Given the description of an element on the screen output the (x, y) to click on. 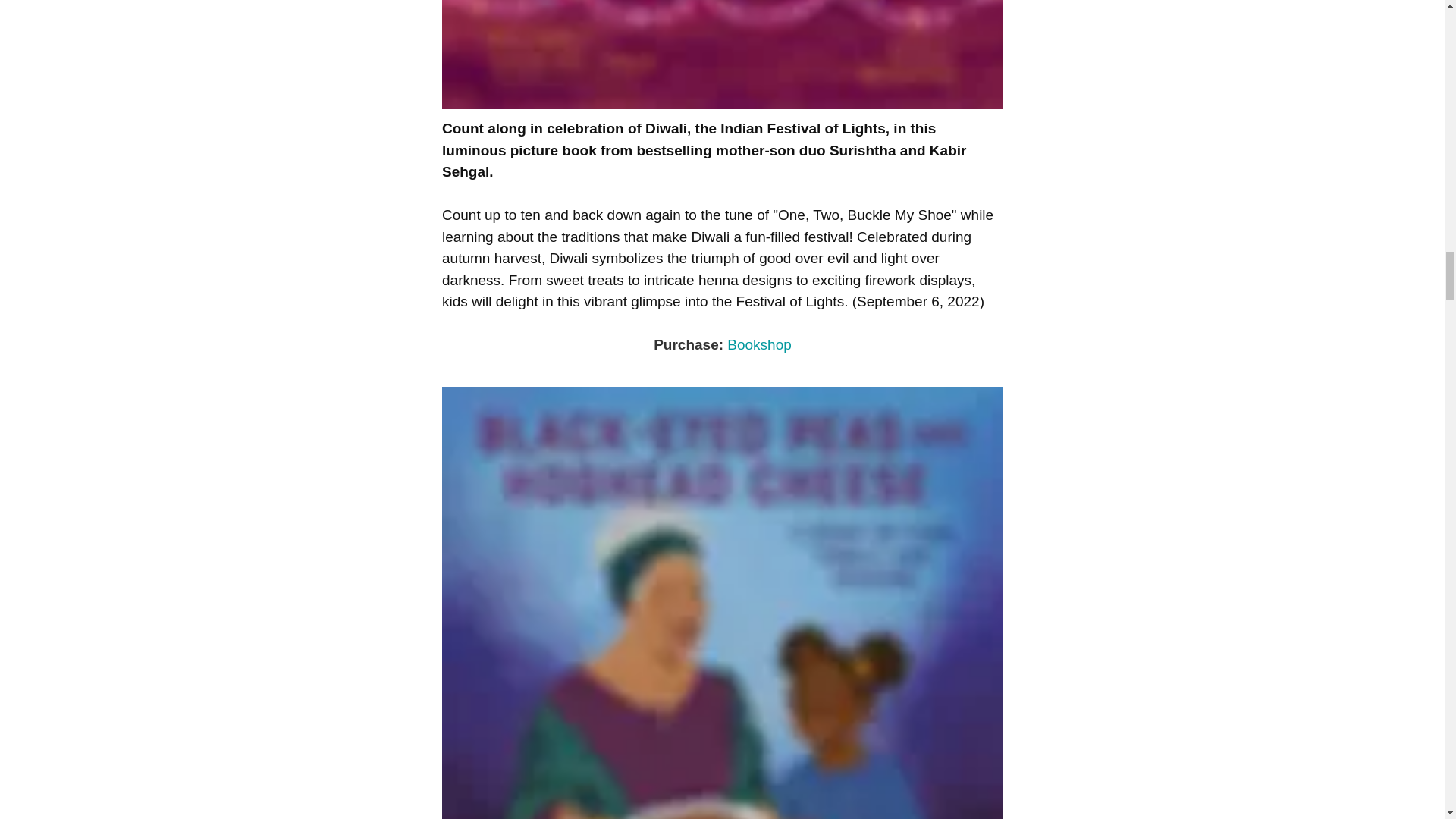
Bookshop (759, 344)
